Given the description of an element on the screen output the (x, y) to click on. 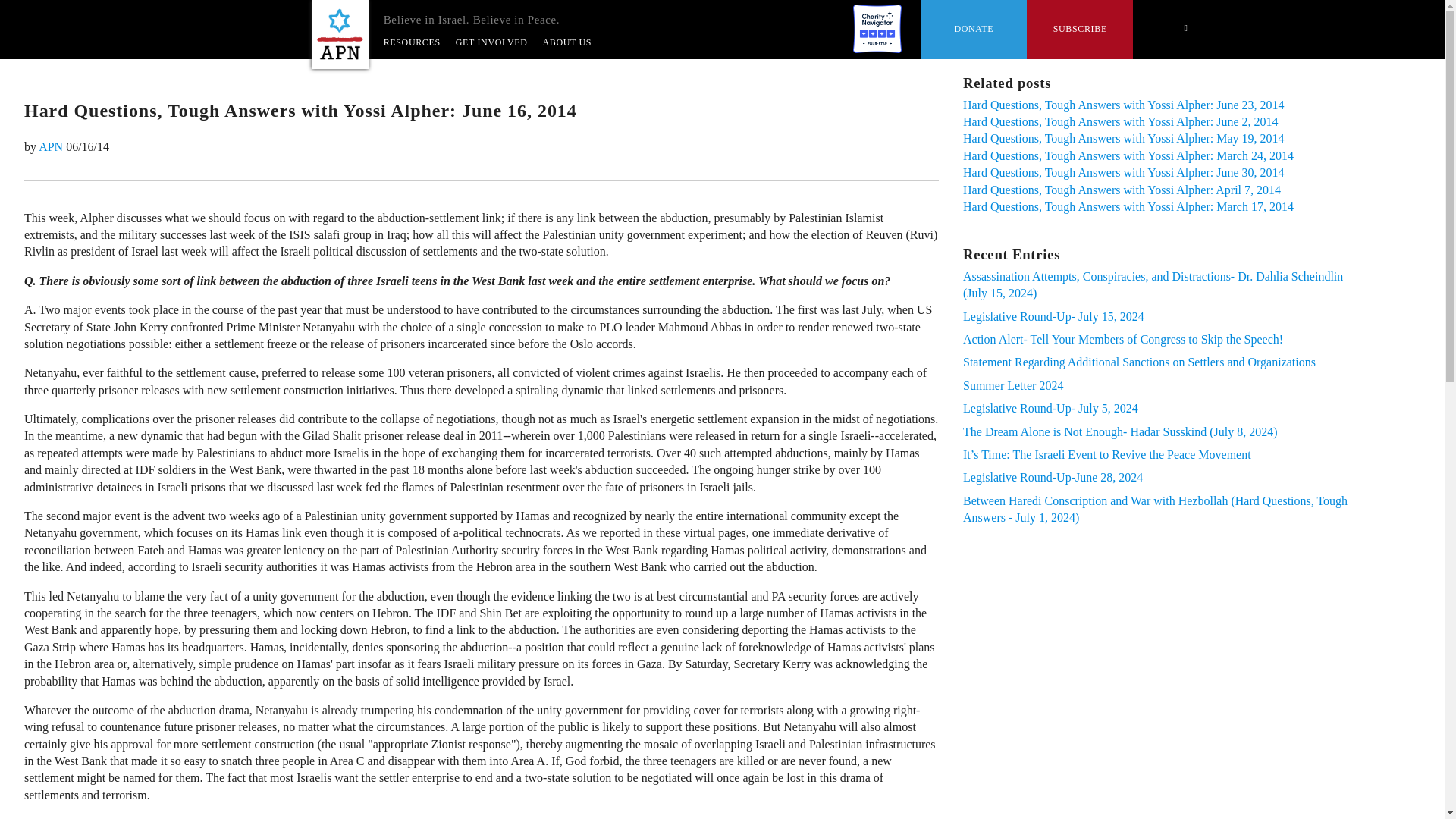
Believe in Israel. Believe in Peace. (339, 34)
RESOURCES (412, 42)
